Given the description of an element on the screen output the (x, y) to click on. 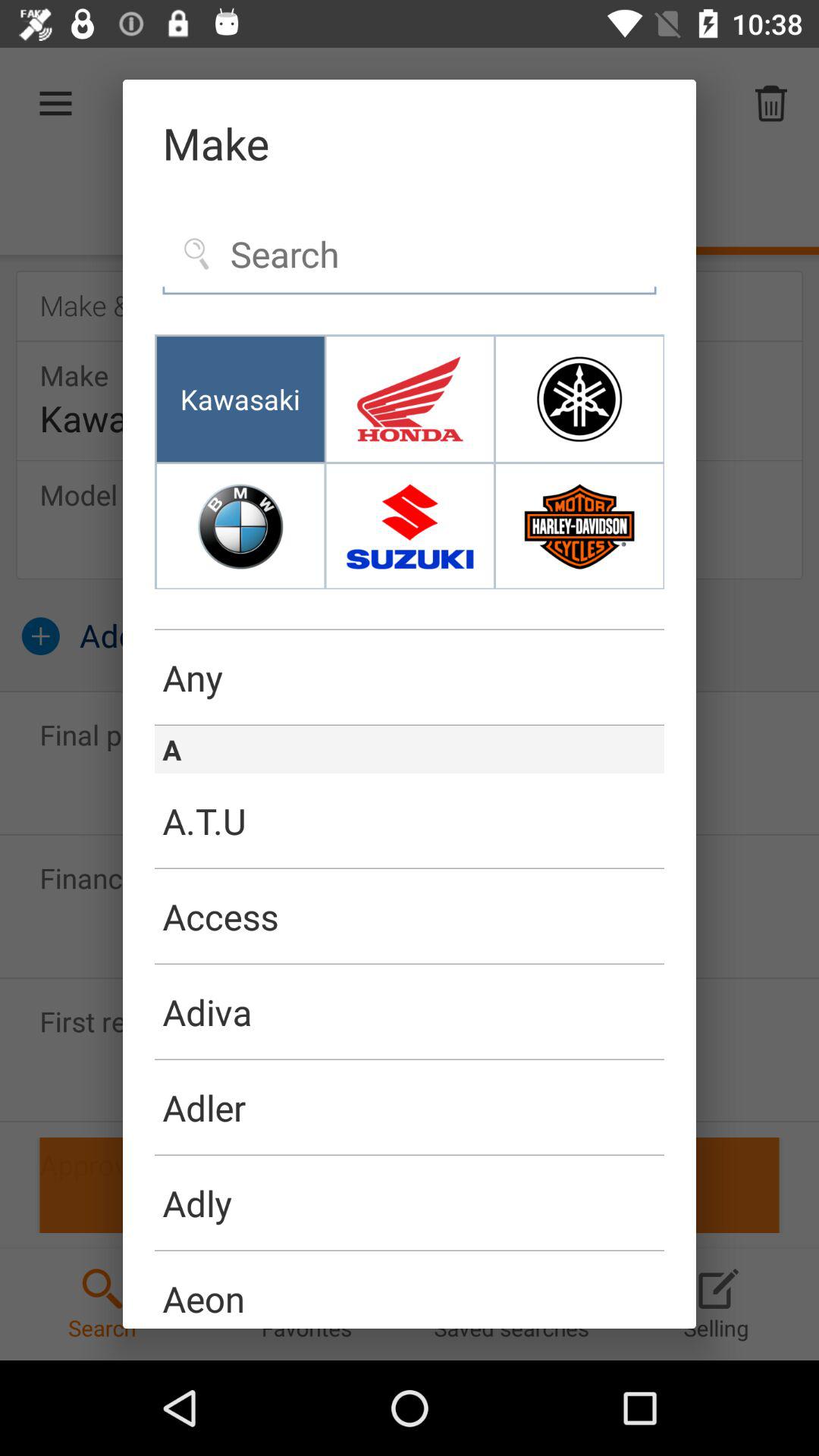
flip until access (409, 916)
